Given the description of an element on the screen output the (x, y) to click on. 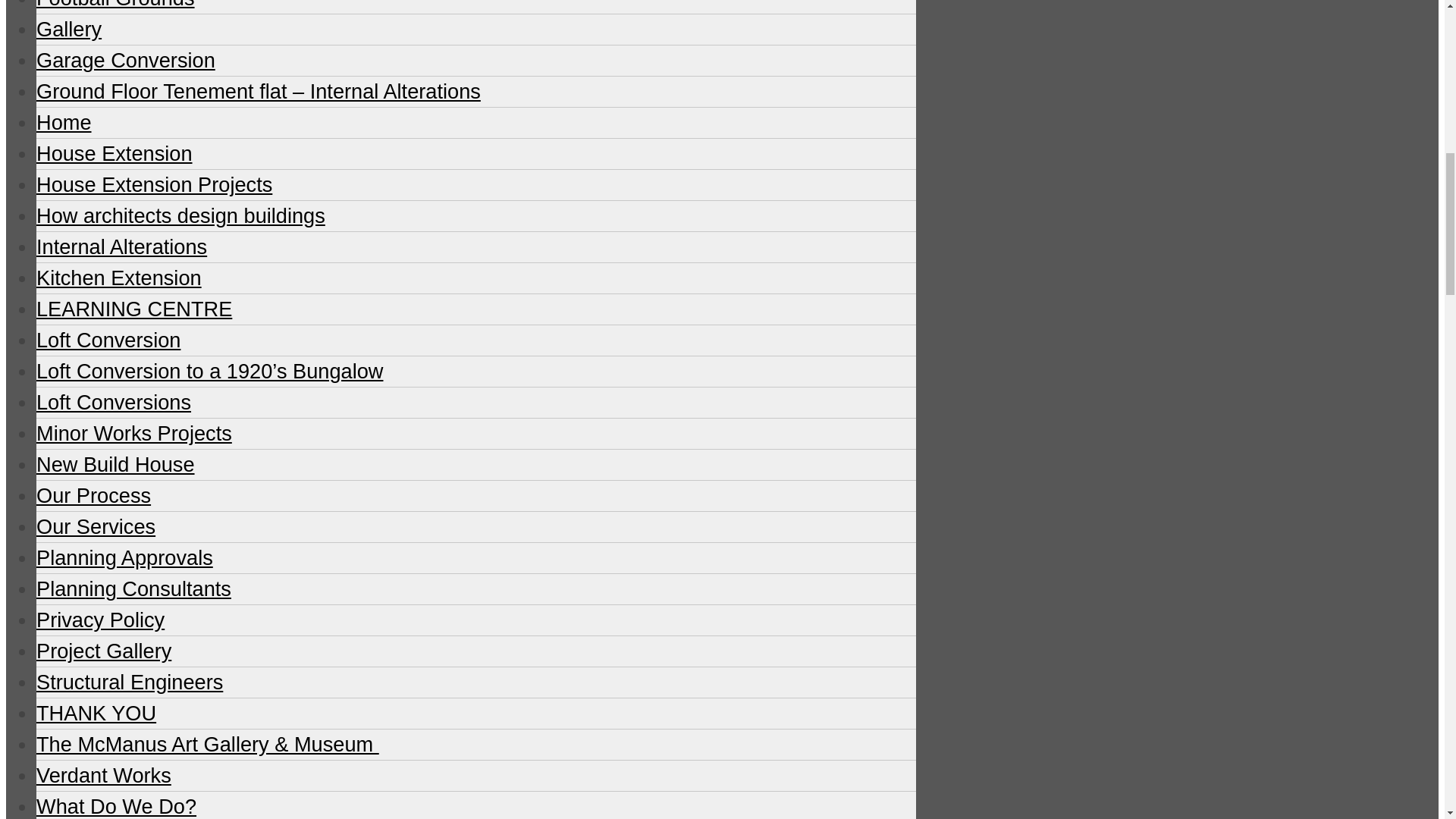
Gallery (68, 28)
Minor Works Projects (133, 433)
Football Grounds (115, 4)
Internal Alterations (121, 246)
New Build House (115, 463)
Loft Conversion (108, 340)
Home (63, 122)
LEARNING CENTRE (133, 309)
House Extension Projects (154, 184)
Kitchen Extension (119, 277)
Loft Conversions (113, 402)
Garage Conversion (125, 60)
House Extension (114, 153)
How architects design buildings (180, 215)
